Given the description of an element on the screen output the (x, y) to click on. 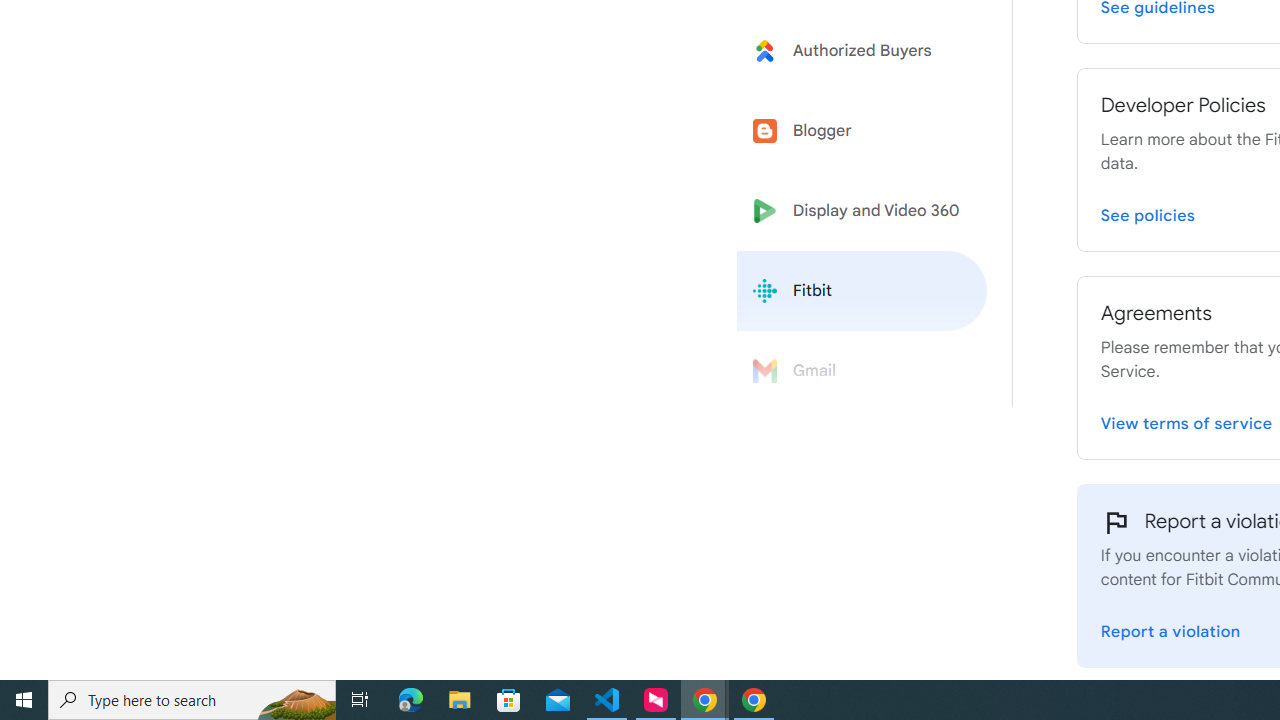
Fitbit (862, 291)
Learn more about Authorized Buyers (862, 50)
Display and Video 360 (862, 211)
Gmail (862, 371)
Learn more about Authorized Buyers (862, 50)
Fitbit (862, 291)
Blogger (862, 130)
Blogger (862, 130)
Display and Video 360 (862, 211)
Report a violation (1170, 628)
View Fitbit Developer Policies page (1147, 211)
Gmail (862, 371)
